Given the description of an element on the screen output the (x, y) to click on. 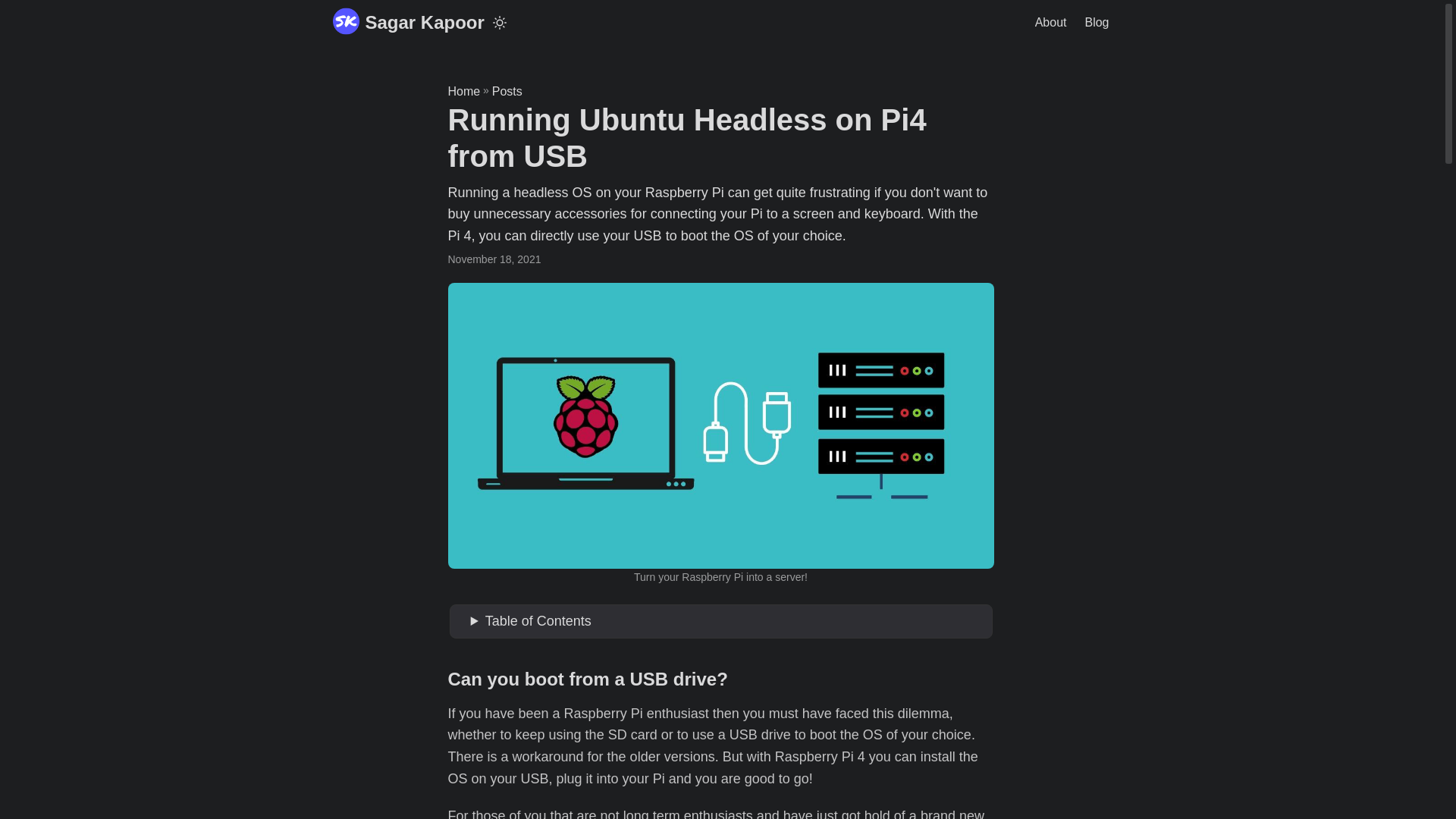
Posts (507, 91)
Home (463, 91)
Sagar Kapoor (407, 22)
